Given the description of an element on the screen output the (x, y) to click on. 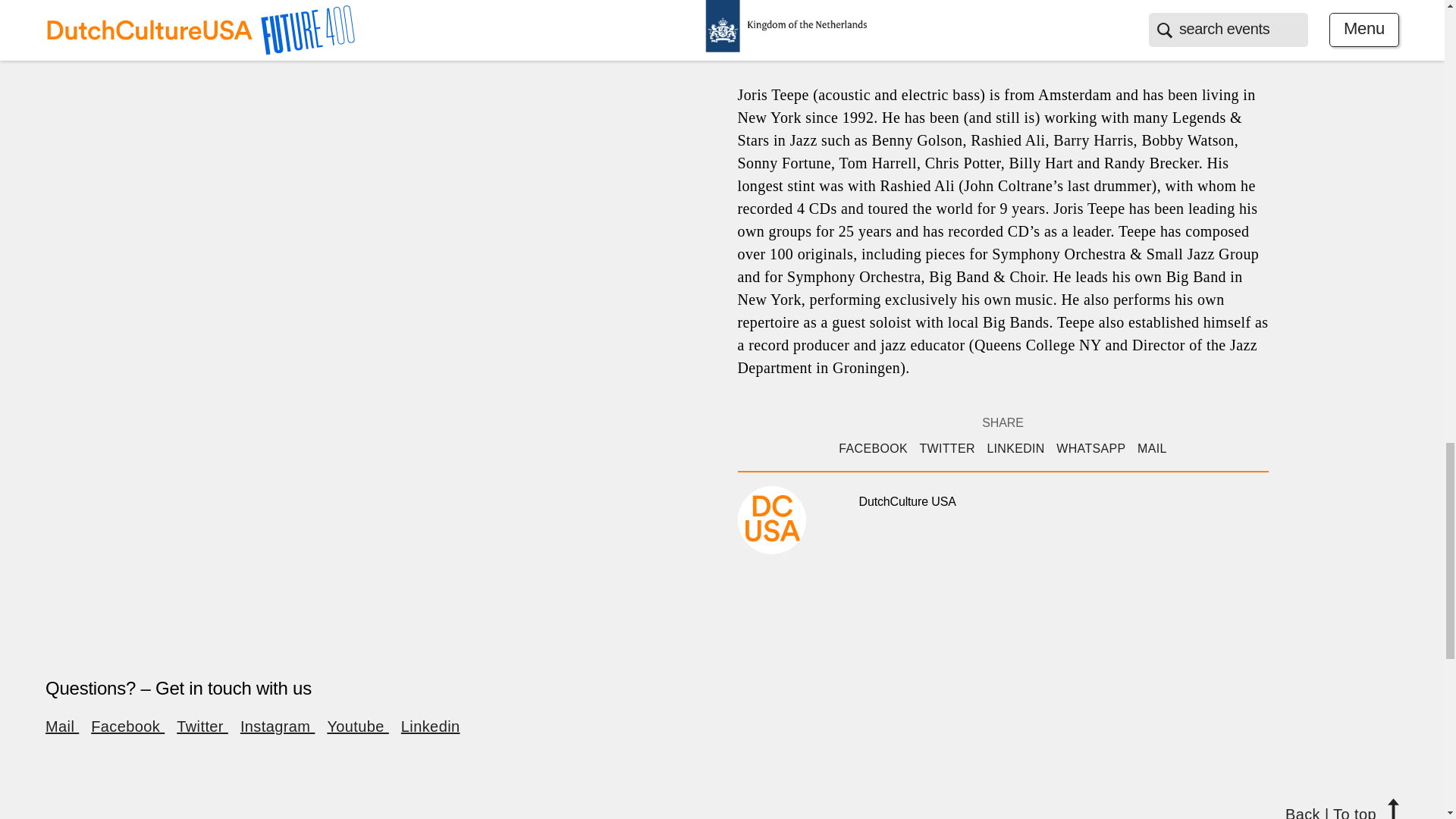
WHATSAPP (1091, 448)
Twitter (202, 726)
Youtube (357, 726)
Mail (61, 726)
Linkedin (430, 726)
MAIL (1152, 448)
LINKEDIN (1015, 448)
Facebook (127, 726)
TWITTER (946, 448)
FACEBOOK (872, 448)
Instagram (277, 726)
